Given the description of an element on the screen output the (x, y) to click on. 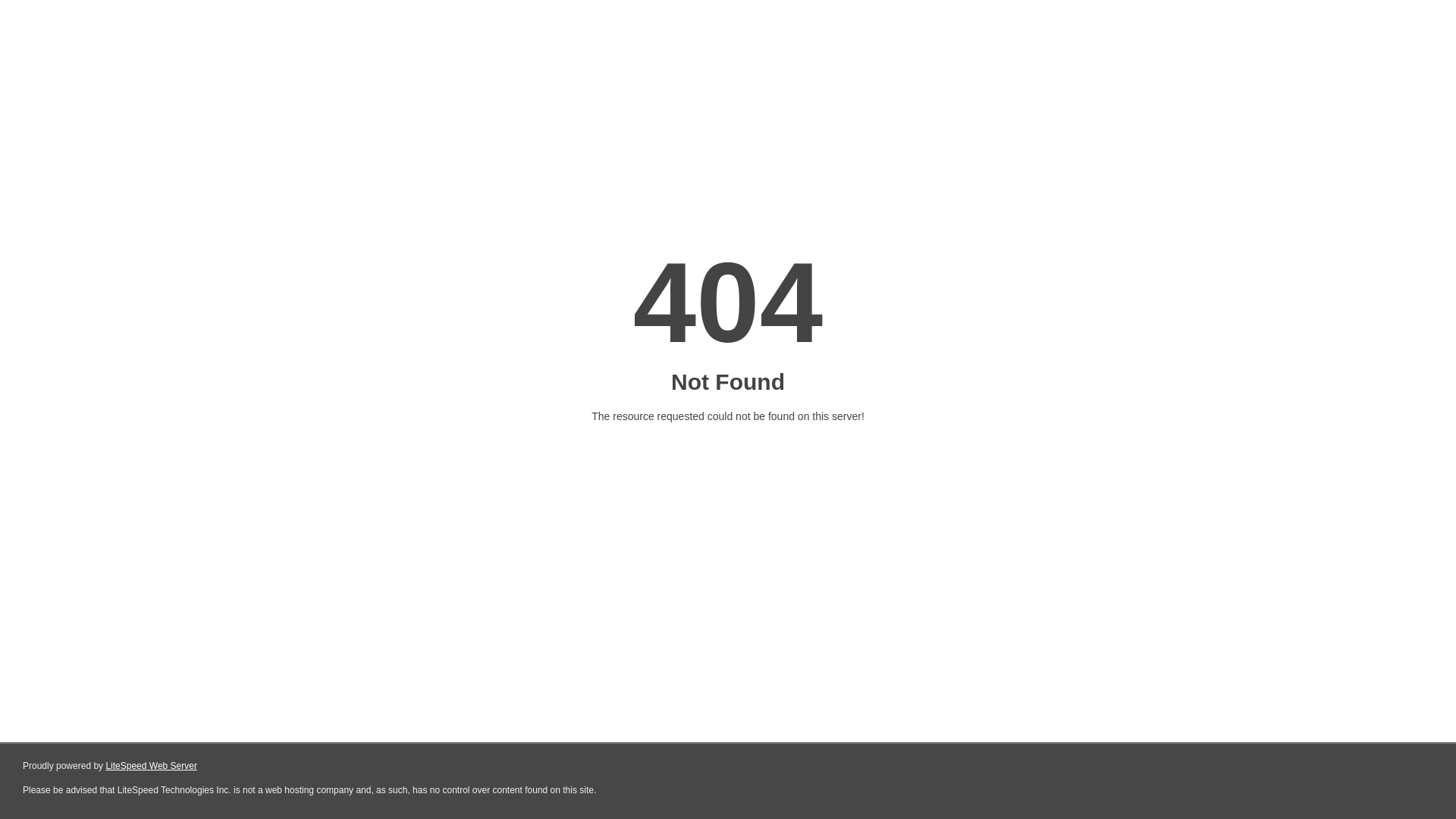
LiteSpeed Web Server Element type: text (151, 765)
